Given the description of an element on the screen output the (x, y) to click on. 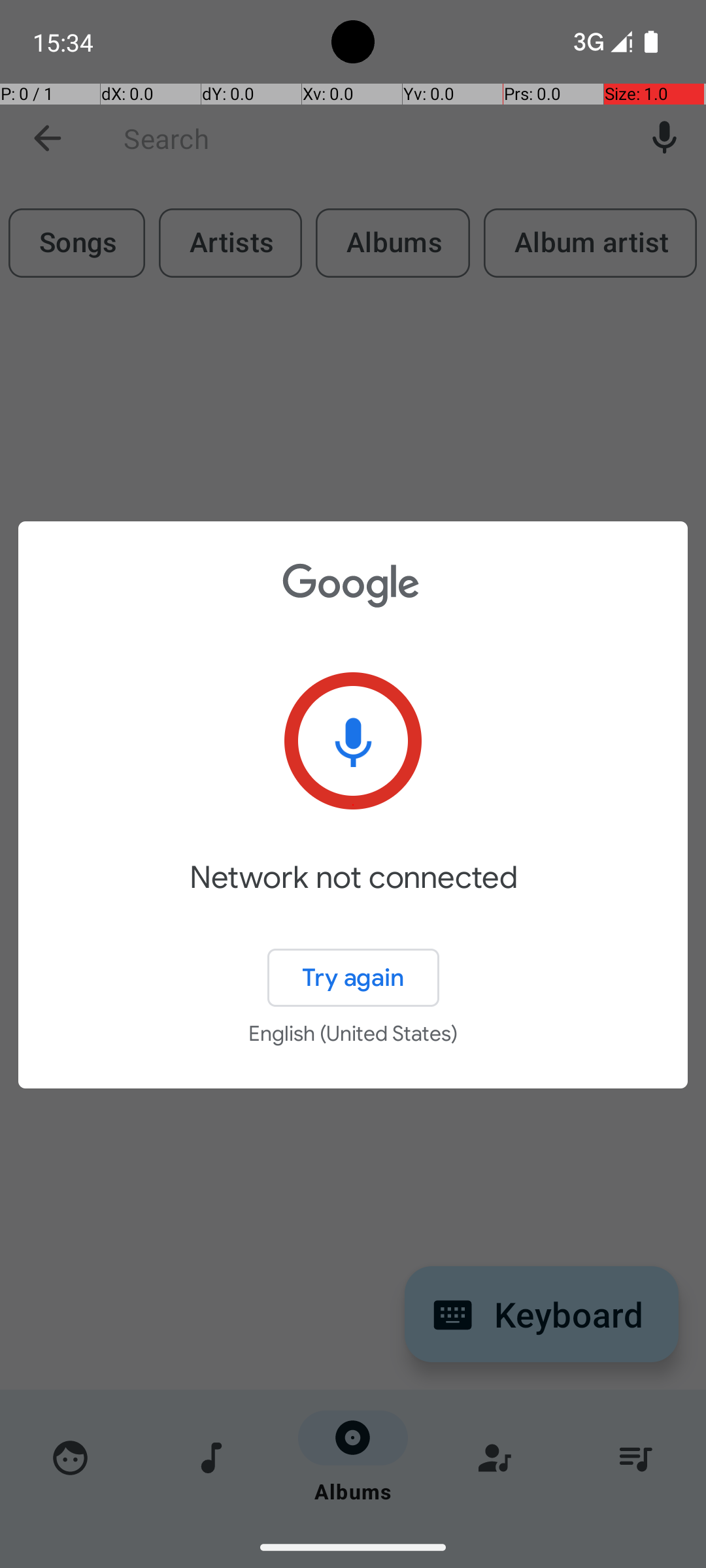
Network not connected Element type: android.widget.TextView (352, 895)
Try again Element type: android.widget.Button (353, 977)
